Given the description of an element on the screen output the (x, y) to click on. 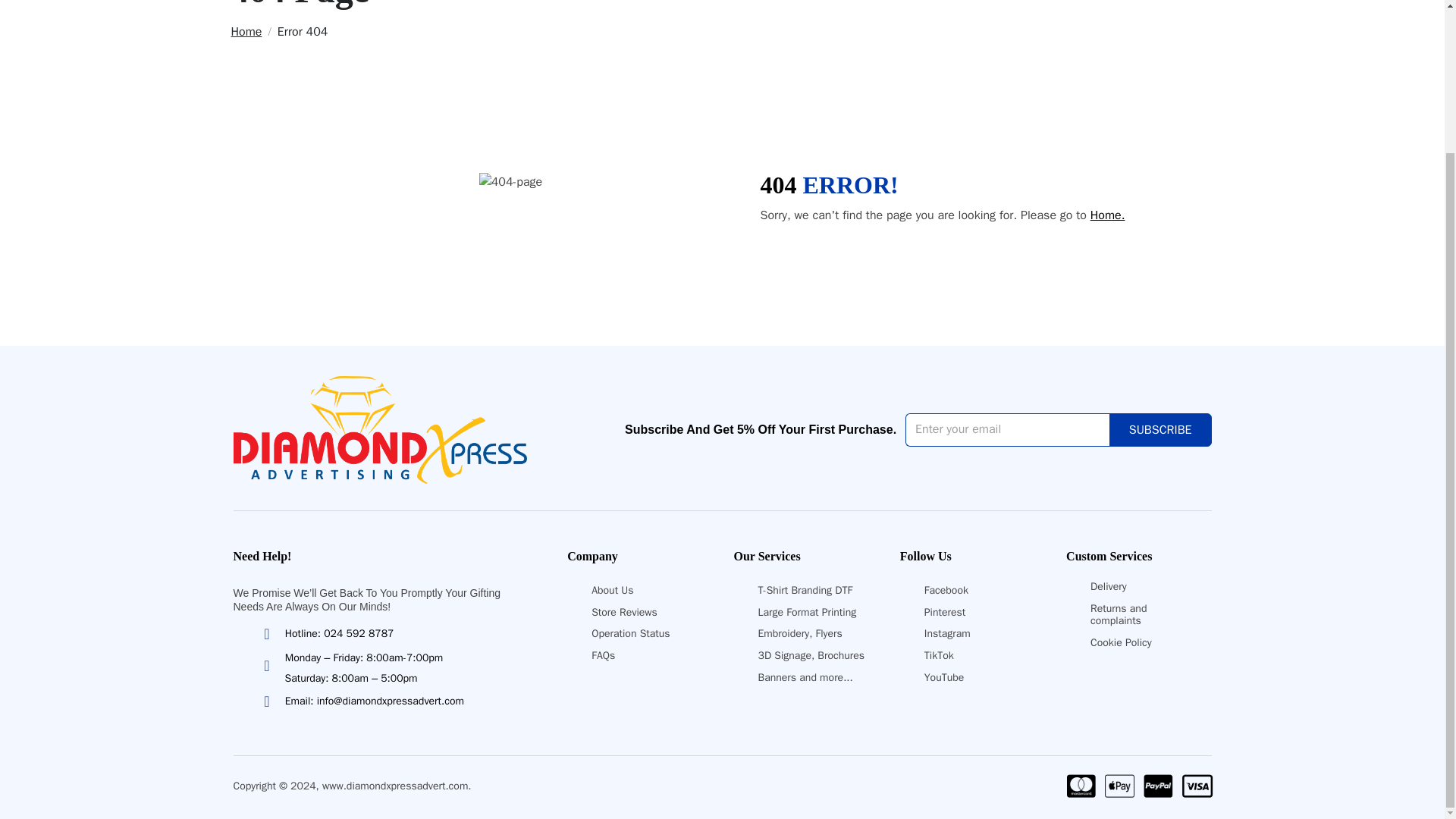
Login (837, 254)
Facebook (946, 590)
T-Shirt Branding DTF (804, 590)
Embroidery, Flyers (799, 633)
Banners and more... (804, 676)
Cookie Policy (1120, 642)
TikTok (938, 655)
3D Signage, Brochures (810, 655)
Home. (1107, 215)
Hotline: 024 592 8787 (325, 633)
